Given the description of an element on the screen output the (x, y) to click on. 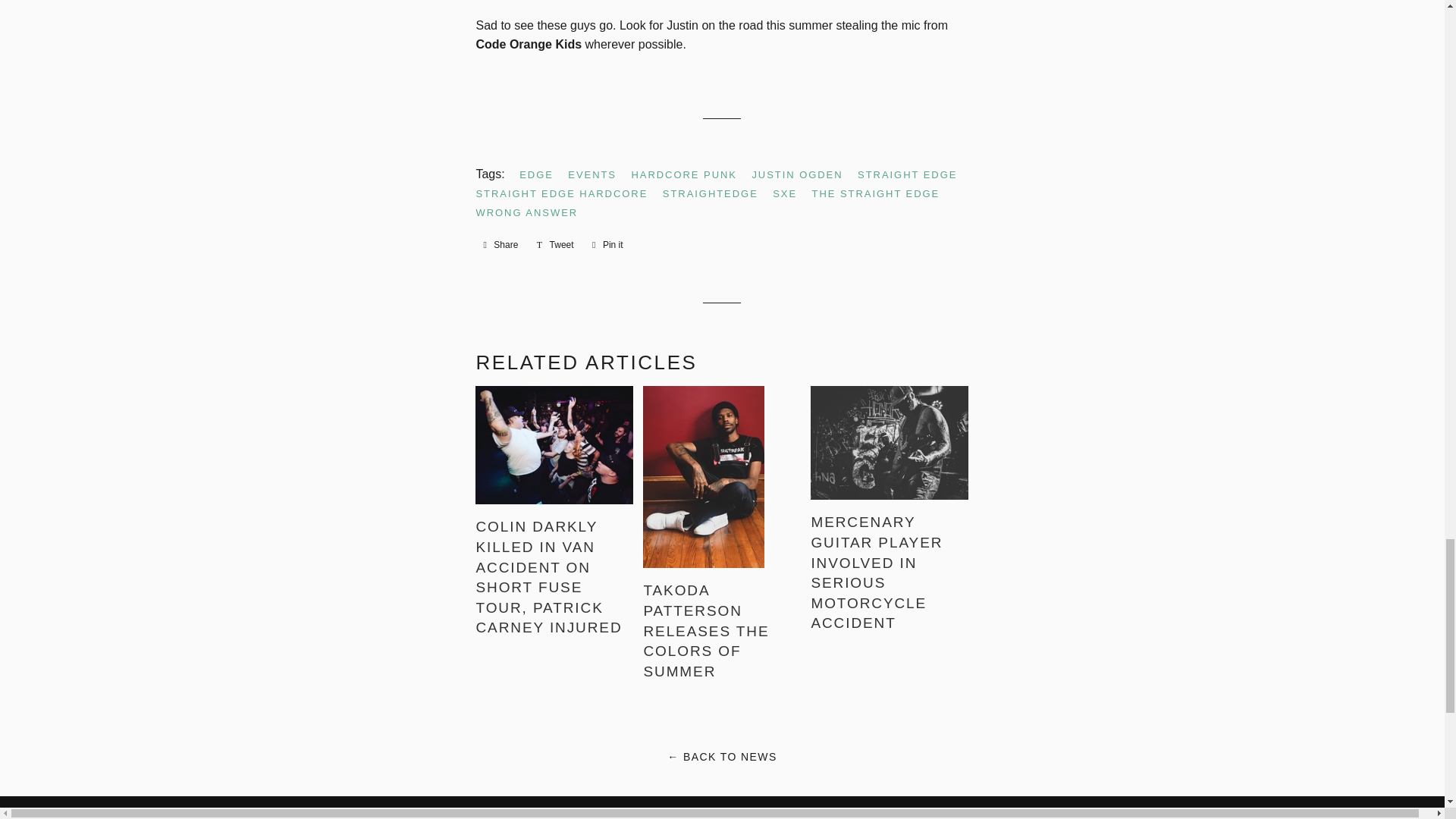
Pin on Pinterest (607, 244)
Tweet on Twitter (554, 244)
Share on Facebook (500, 244)
